Given the description of an element on the screen output the (x, y) to click on. 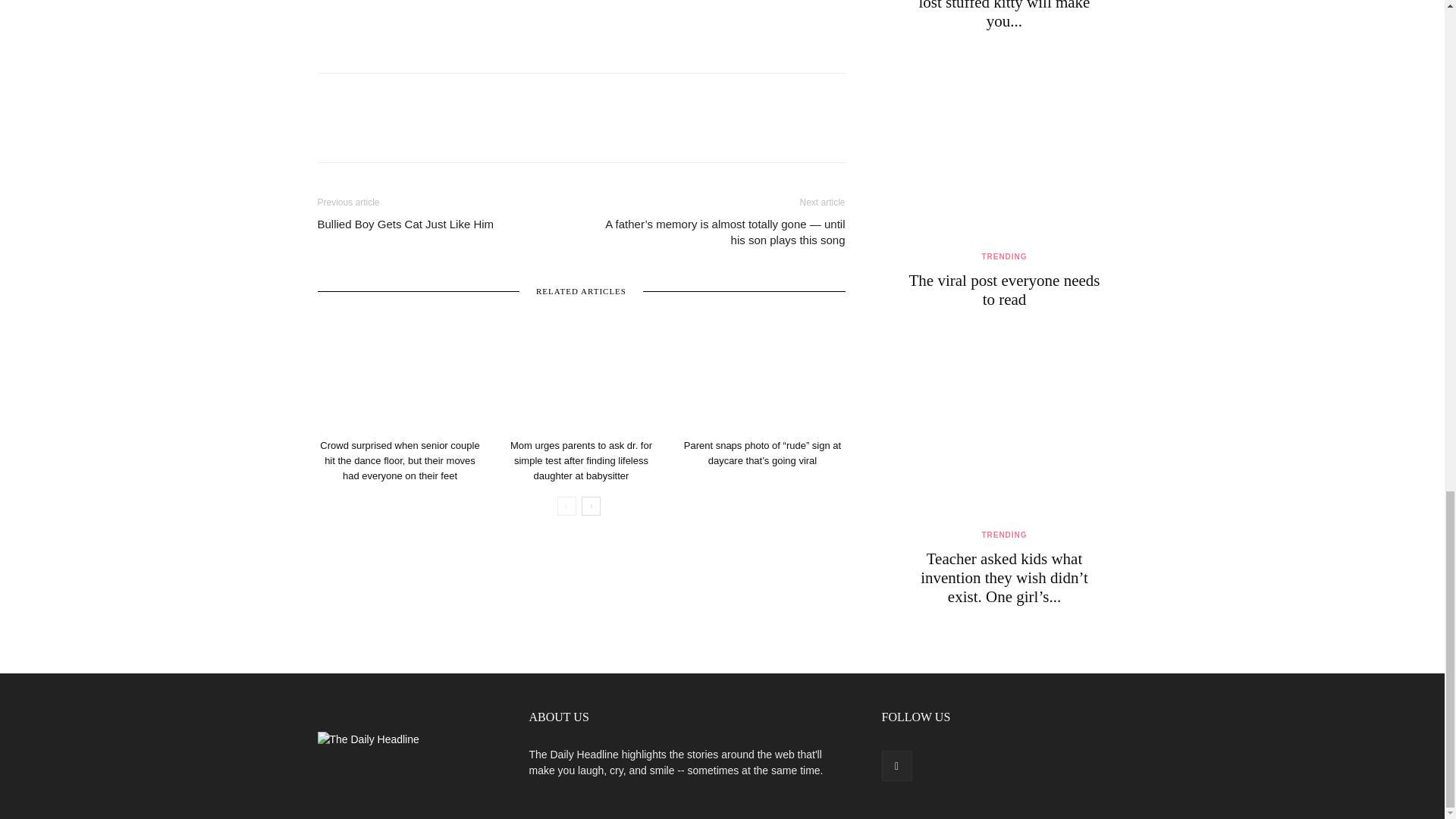
Bullied Boy Gets Cat Just Like Him (405, 223)
RELATED ARTICLES (581, 289)
